Given the description of an element on the screen output the (x, y) to click on. 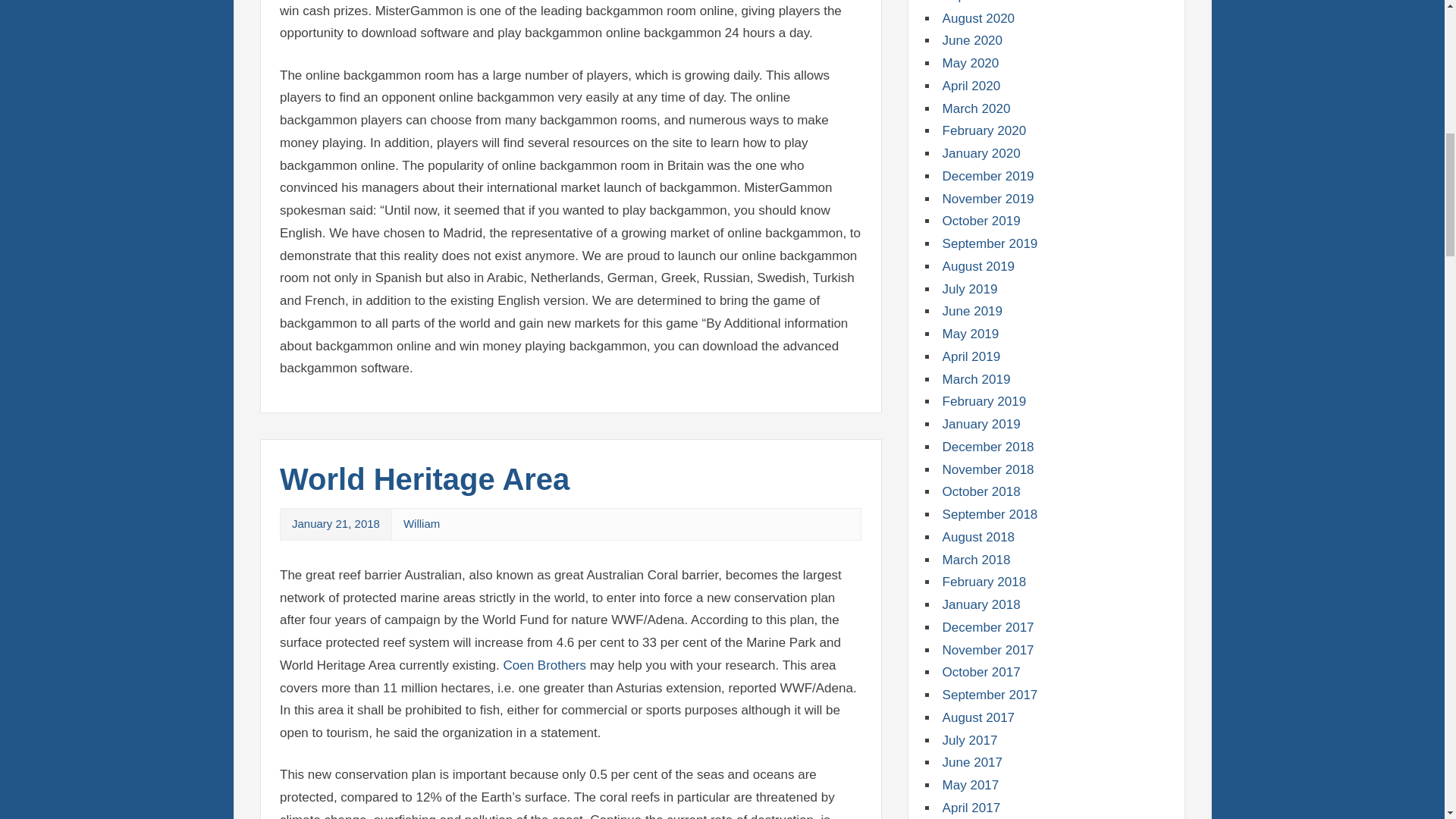
World Heritage Area (424, 479)
6:33 am (336, 522)
William (421, 522)
January 21, 2018 (336, 522)
Coen Brothers (544, 665)
View all posts by William (421, 522)
